Given the description of an element on the screen output the (x, y) to click on. 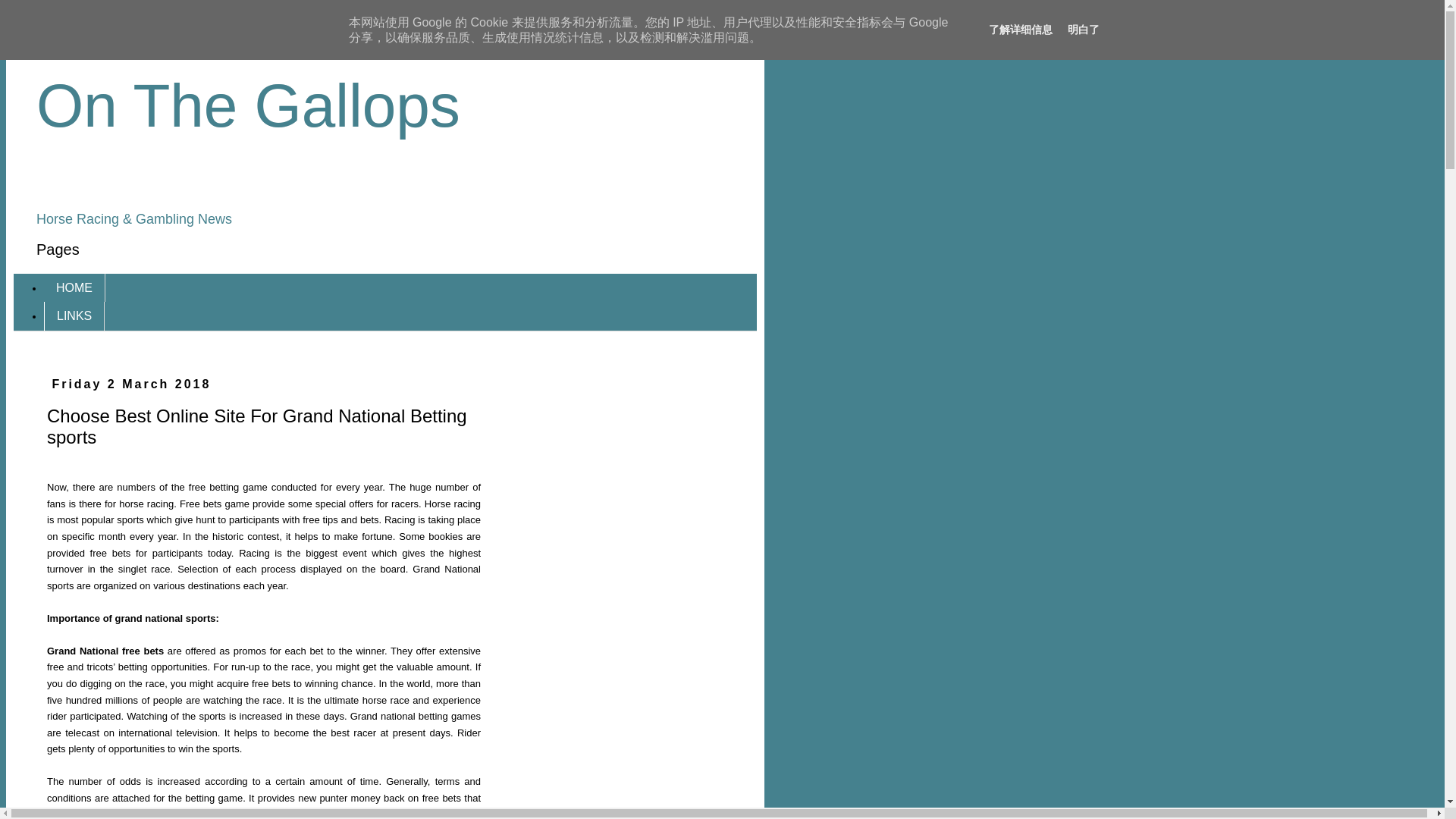
LINKS (73, 316)
HOME (73, 287)
On The Gallops (248, 105)
